Given the description of an element on the screen output the (x, y) to click on. 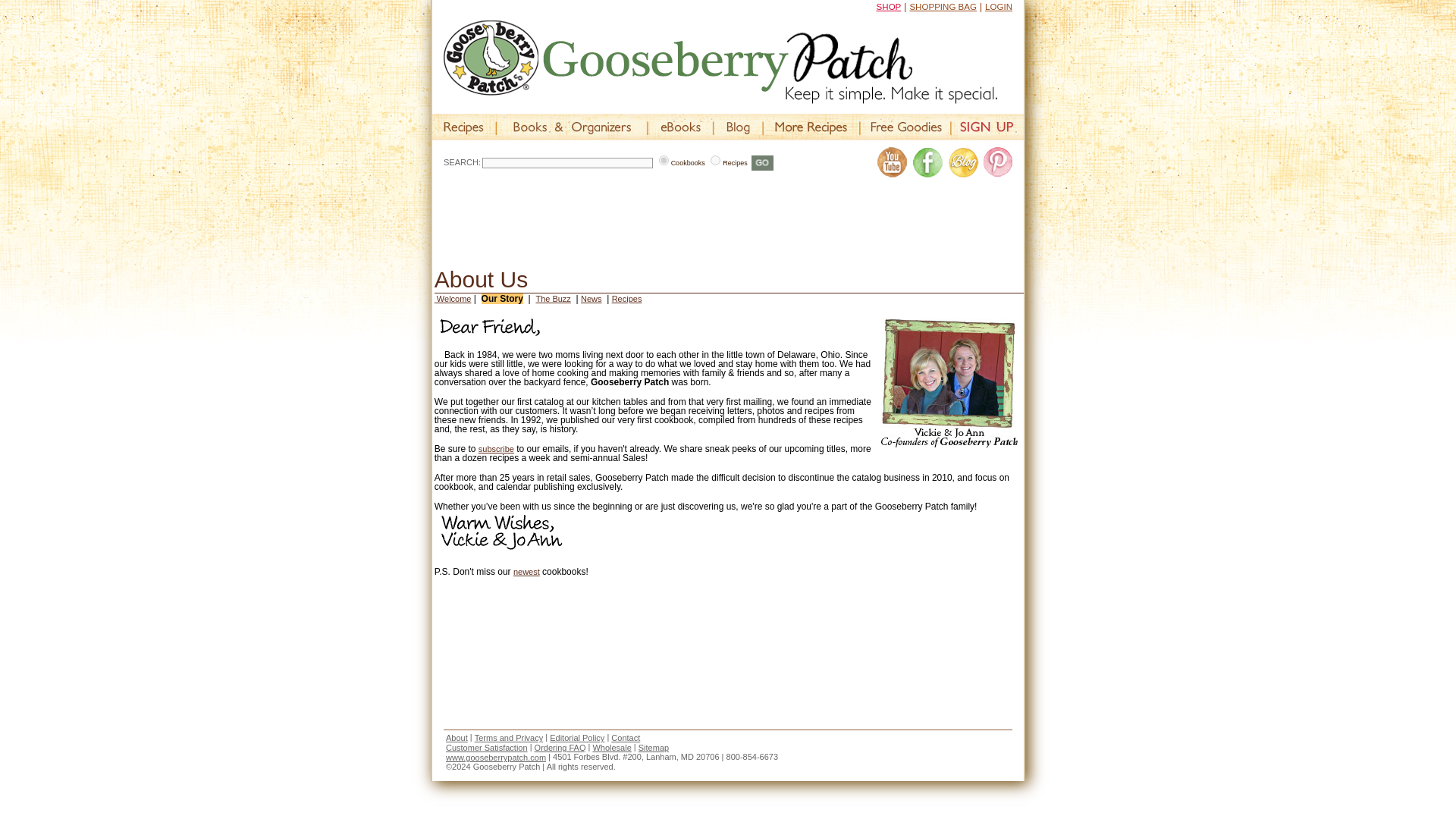
Recipes (464, 136)
SHOP (888, 6)
Cookbooks (663, 160)
Gooseberry Patch - Keep it simple. Make it special. (720, 62)
Recipes (715, 160)
LOGIN (998, 6)
Gooseberry Patch - Keep it simple. Make it special. (733, 62)
SHOPPING BAG (942, 6)
